Given the description of an element on the screen output the (x, y) to click on. 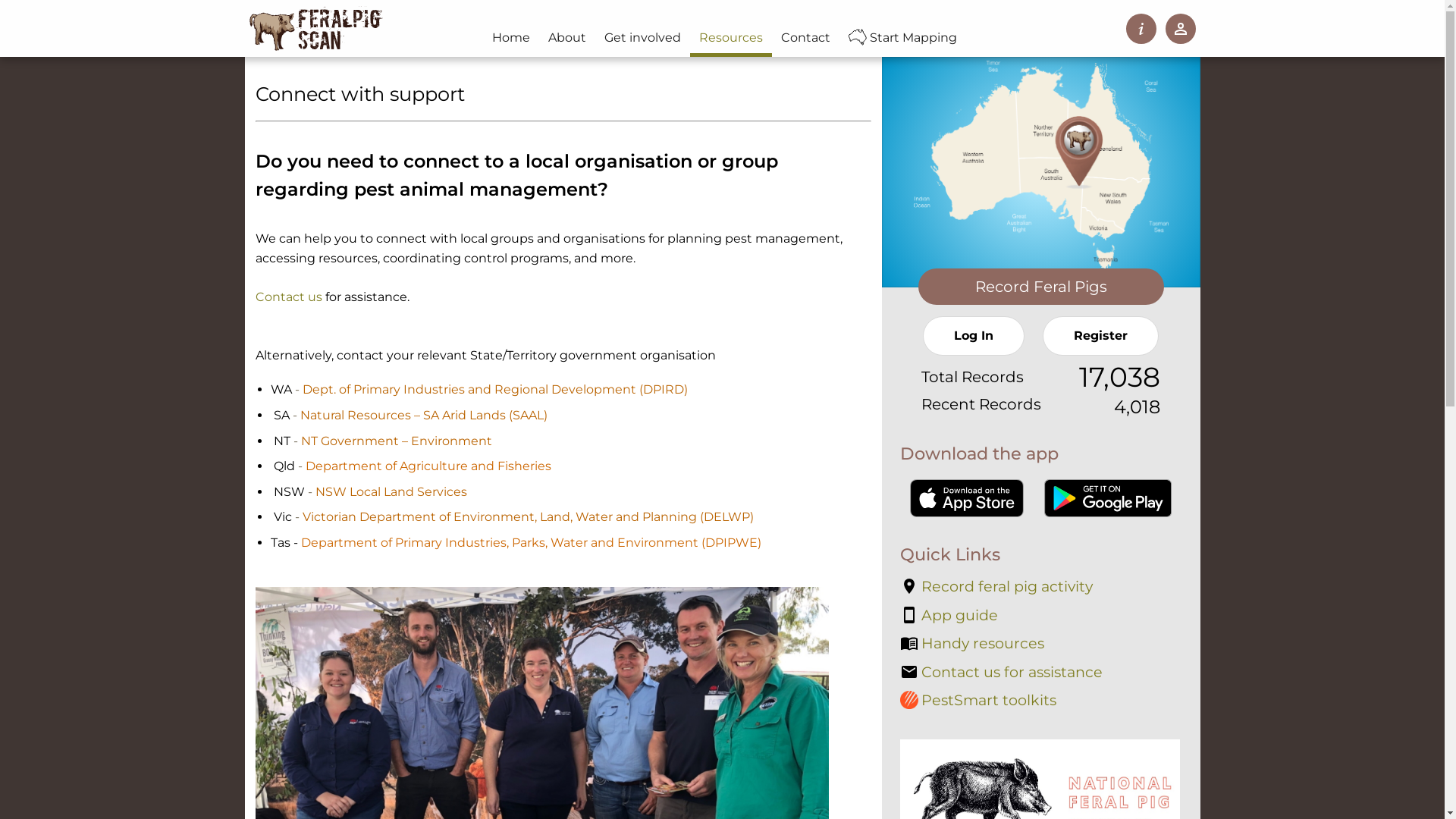
App guide Element type: text (948, 615)
NSW Local Land Services Element type: text (391, 491)
PestSmart toolkits Element type: text (977, 700)
Get the FeralScan App on Google Play Element type: hover (1107, 498)
Home Element type: text (511, 37)
Department of Agriculture and Fisheries Element type: text (427, 465)
About Element type: text (567, 37)
  Element type: text (271, 516)
Record feral pig activity Element type: text (995, 586)
Start Mapping Element type: text (907, 37)
Contact us for assistance Element type: text (1000, 672)
Log In / Register Element type: hover (1179, 28)
  Element type: text (271, 440)
Instructions Element type: hover (1140, 28)
Get involved Element type: text (642, 37)
Dept. of Primary Industries and Regional Development (DPIRD) Element type: text (494, 389)
Contact Element type: text (805, 37)
Click to Start Mapping Element type: hover (1040, 164)
Register Element type: text (1100, 335)
Log In Element type: text (973, 335)
Download the FeralScan App on the App Store Element type: hover (966, 498)
  Element type: text (271, 465)
Resources Element type: text (730, 37)
Record Feral Pigs Element type: text (1040, 286)
  Element type: text (271, 414)
Contact us Element type: text (287, 296)
Handy resources Element type: text (971, 643)
